Given the description of an element on the screen output the (x, y) to click on. 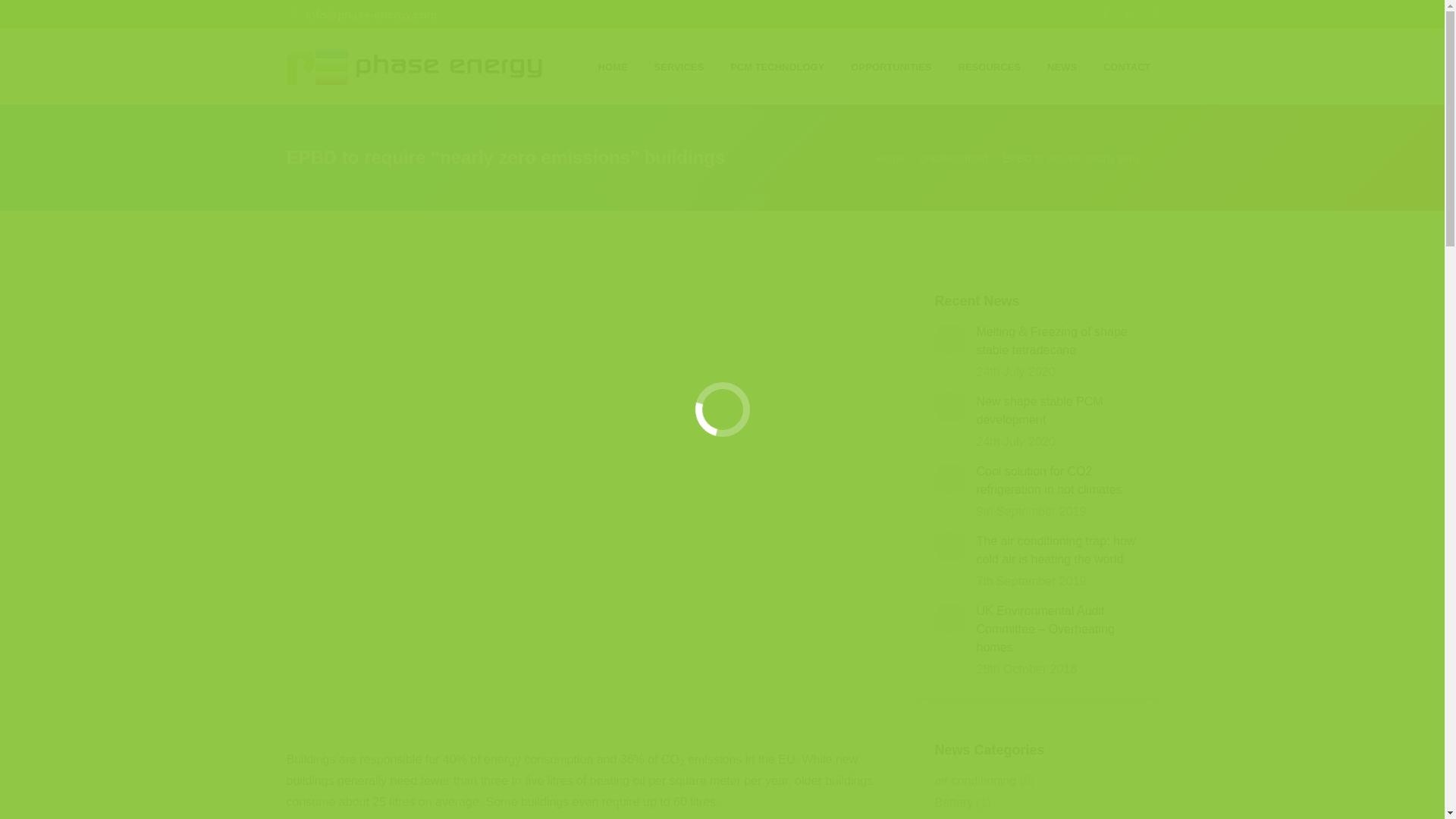
RESOURCES (987, 60)
OPPORTUNITIES (889, 60)
CONTACT (1125, 60)
Twitter page opens in new window (1106, 14)
NEWS (1059, 60)
HOME (610, 60)
Twitter page opens in new window (1106, 14)
Linkedin page opens in new window (1128, 14)
SERVICES (677, 60)
Linkedin page opens in new window (1128, 14)
